Given the description of an element on the screen output the (x, y) to click on. 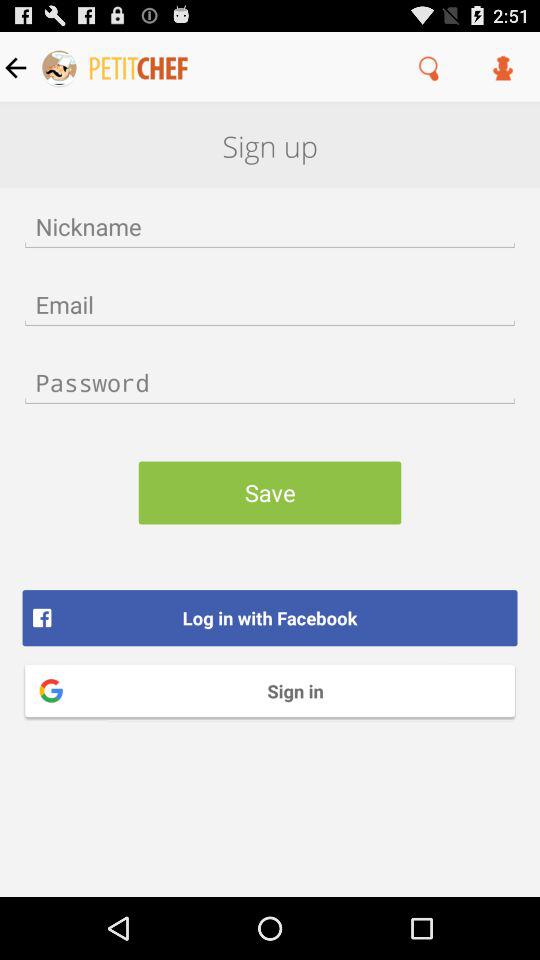
jump until the save item (269, 492)
